Given the description of an element on the screen output the (x, y) to click on. 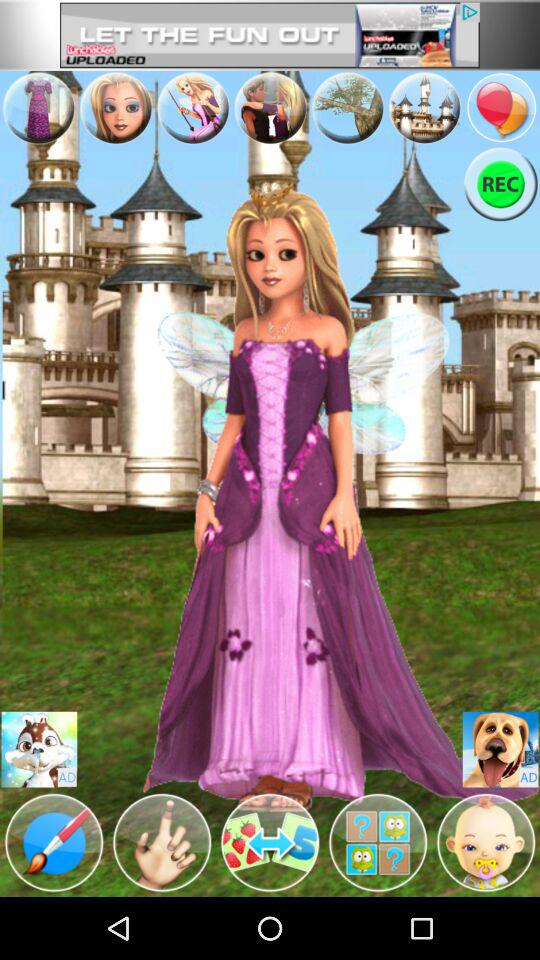
click to the app option (424, 107)
